Given the description of an element on the screen output the (x, y) to click on. 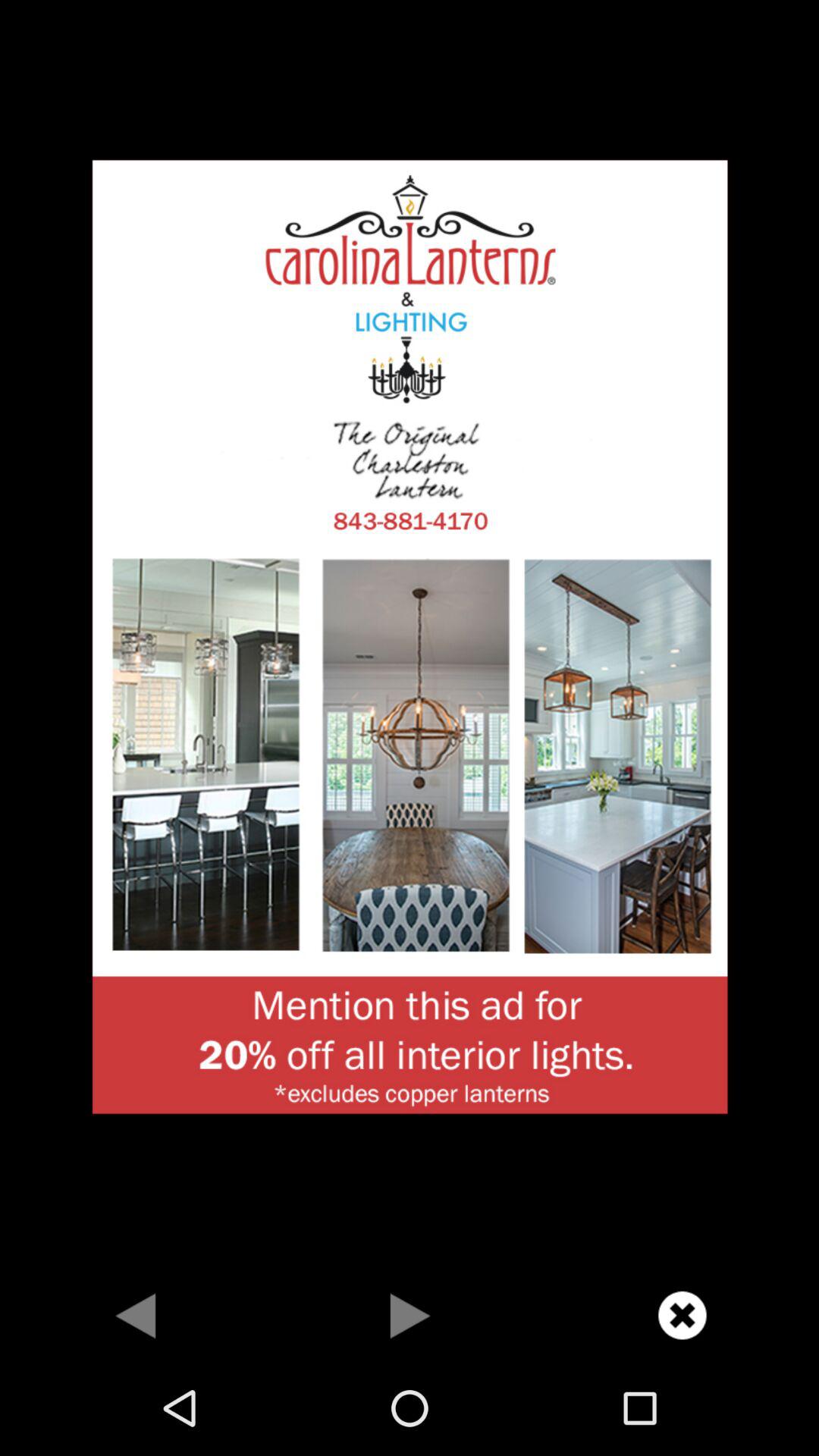
go forward (409, 1315)
